Given the description of an element on the screen output the (x, y) to click on. 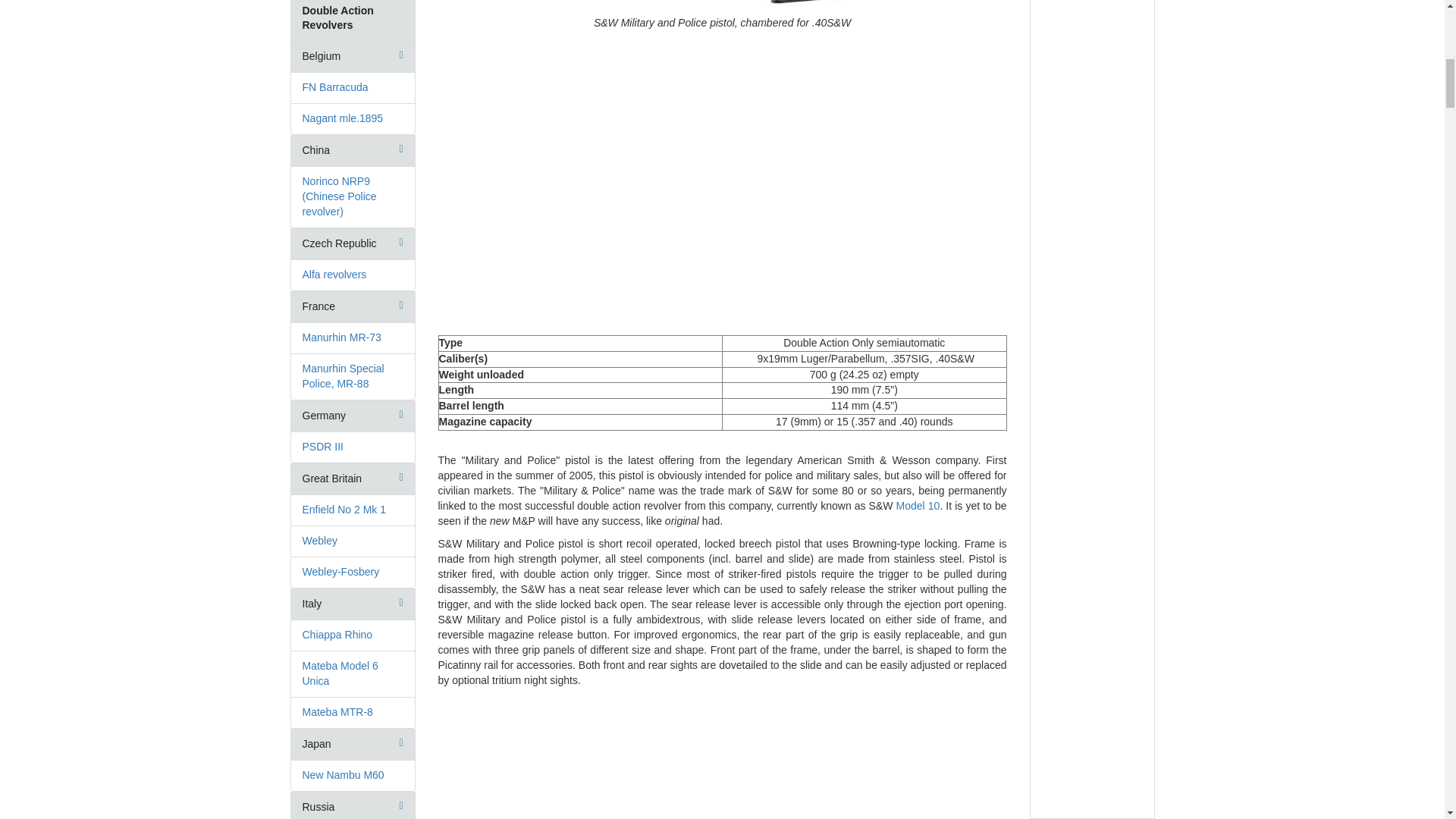
Czech Republic (338, 243)
Manurhin MR-73 (340, 337)
Alfa revolvers (333, 274)
PSDR III (321, 446)
France (317, 306)
Belgium (320, 55)
China (315, 150)
Germany (323, 415)
FN Barracuda (334, 87)
Double Action Revolvers (336, 17)
